Given the description of an element on the screen output the (x, y) to click on. 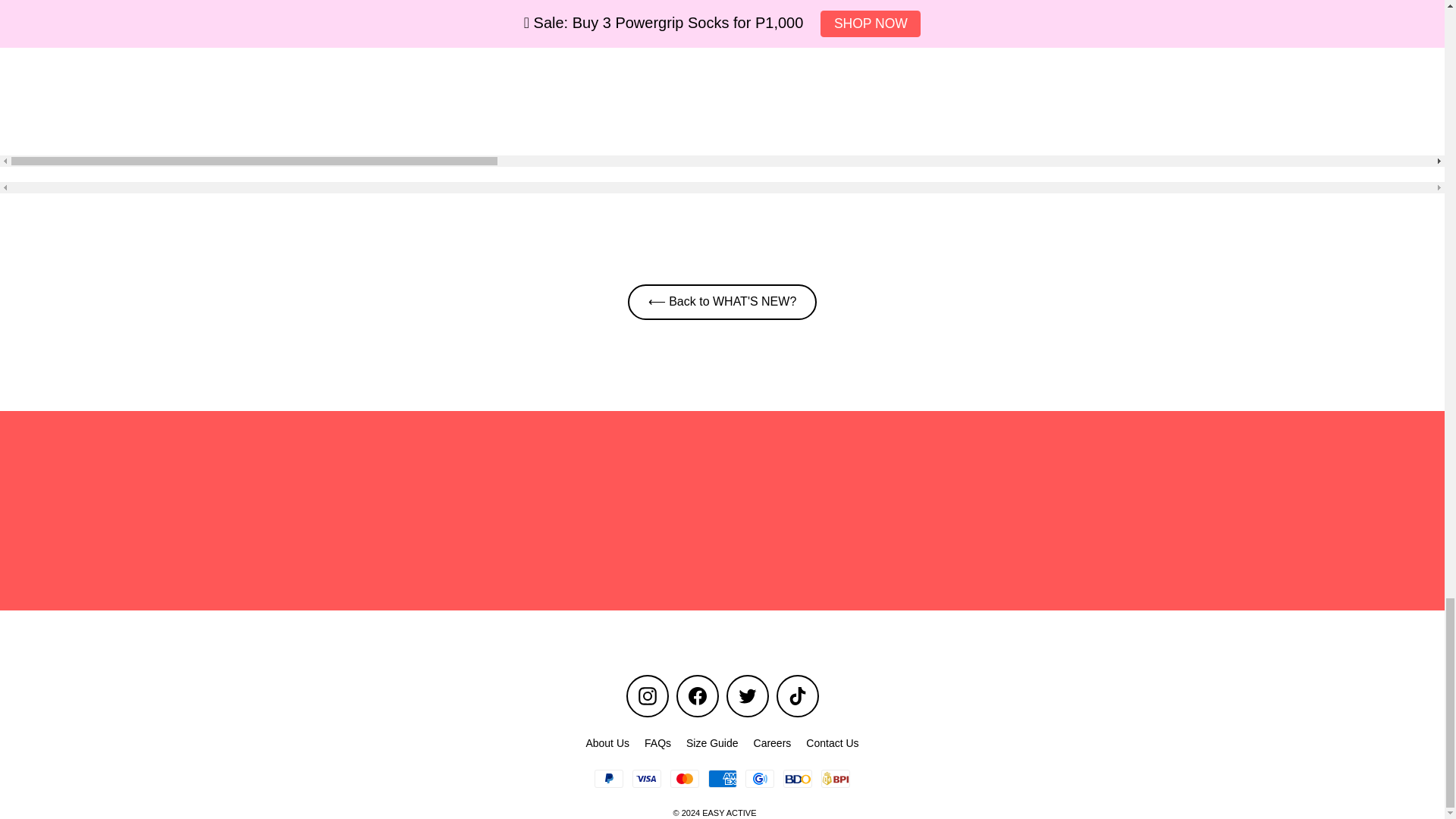
EASY ACTIVE on Facebook (698, 695)
Mastercard (683, 778)
GCash (759, 778)
EASY ACTIVE on Instagram (647, 695)
instagram (647, 696)
twitter (747, 696)
American Express (721, 778)
EASY ACTIVE on TikTok (797, 695)
PayPal (608, 778)
EASY ACTIVE on Twitter (747, 695)
BDO (797, 778)
Visa (646, 778)
BPI (835, 778)
